Given the description of an element on the screen output the (x, y) to click on. 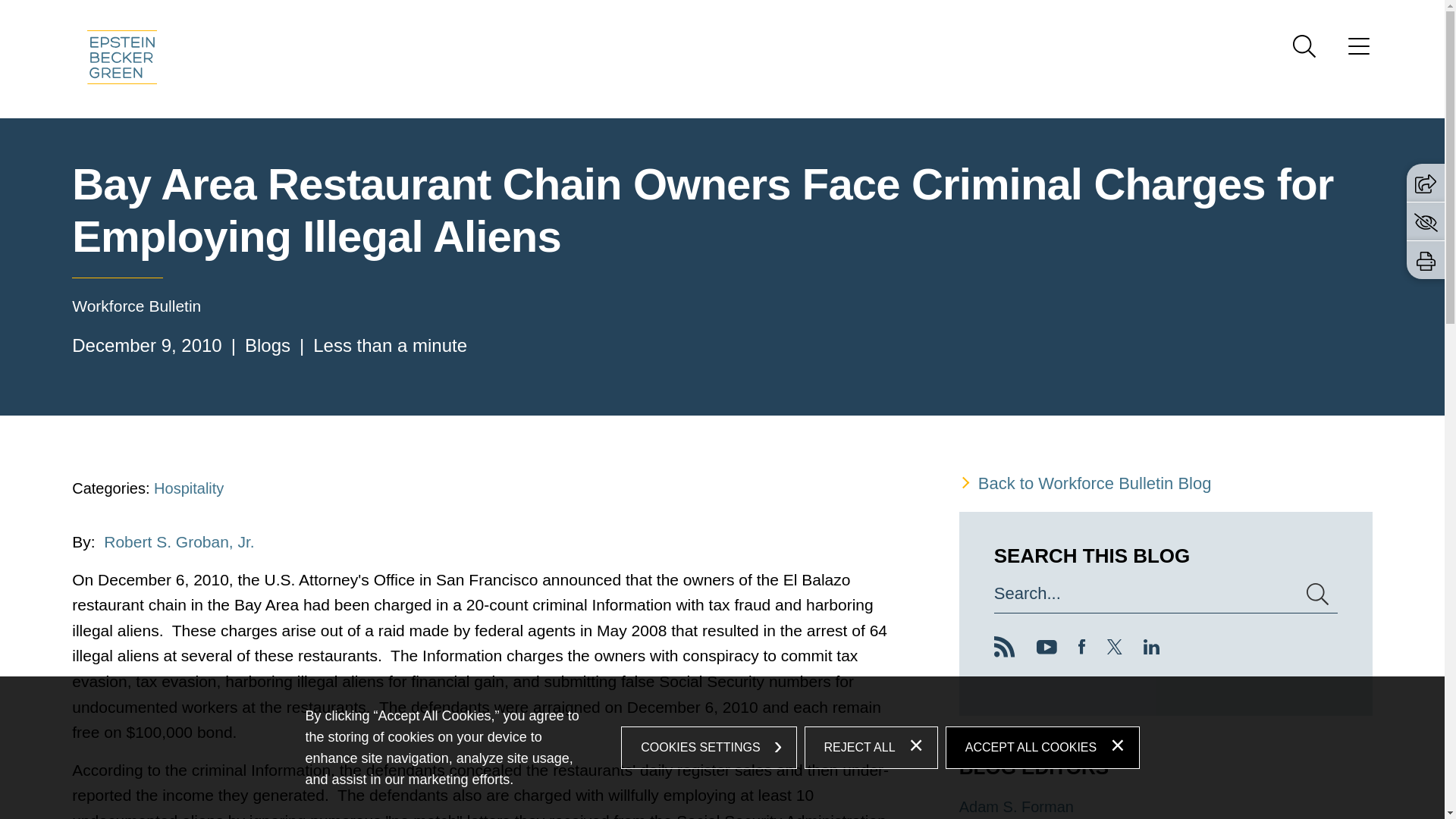
Robert S. Groban, Jr. (178, 541)
Twitter (1114, 648)
Menu (673, 15)
Linkedin (1150, 648)
Share (1425, 183)
Twitter (1114, 646)
RSS (1004, 646)
Youtube (1046, 648)
Share (1425, 182)
Linkedin (1150, 646)
Facebook (1082, 648)
Hospitality (189, 487)
Go to the privacy settings (1425, 221)
Main Menu (673, 15)
Twitter (1114, 648)
